Given the description of an element on the screen output the (x, y) to click on. 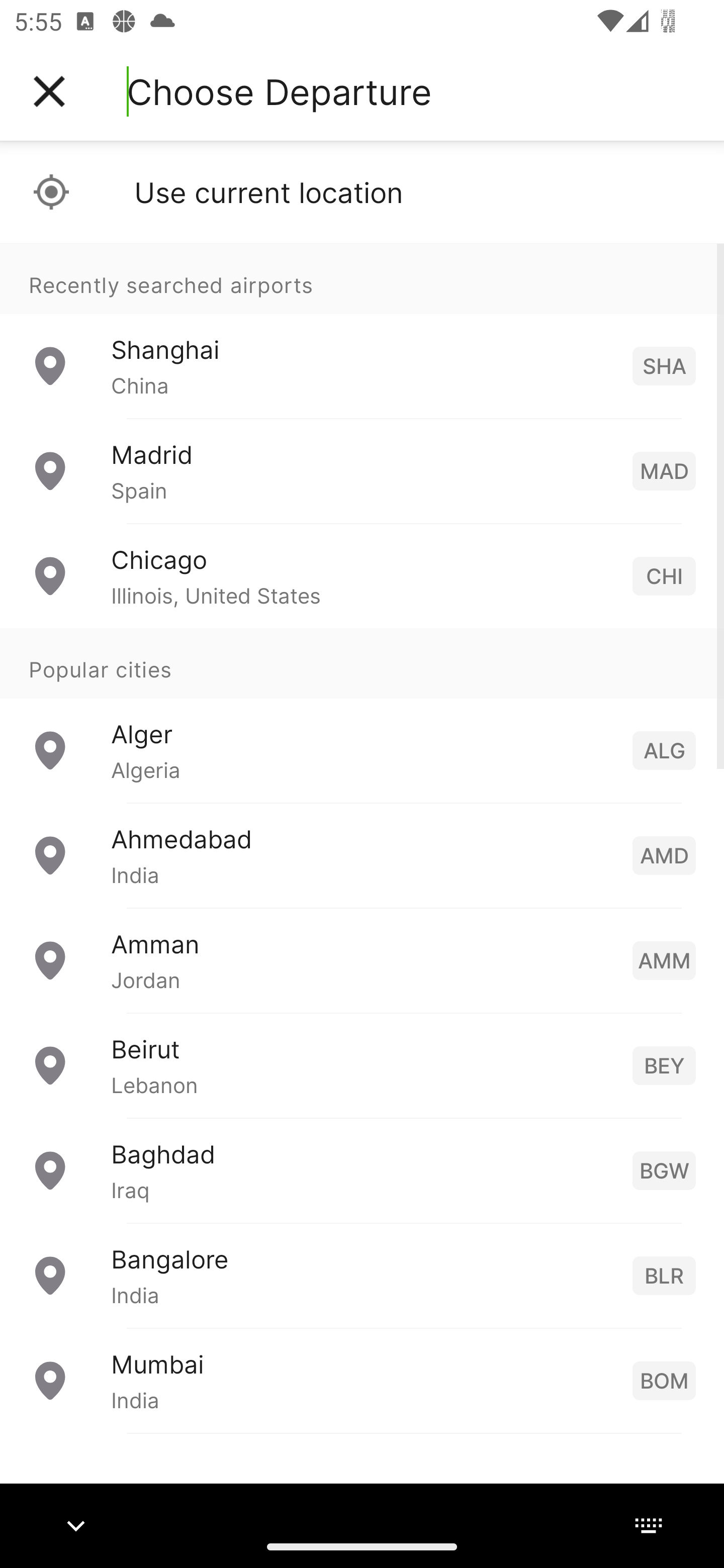
Choose Departure (279, 91)
Use current location (362, 192)
Recently searched airports Shanghai China SHA (362, 330)
Recently searched airports (362, 278)
Madrid Spain MAD (362, 470)
Chicago Illinois, United States CHI (362, 575)
Popular cities Alger Algeria ALG (362, 715)
Popular cities (362, 663)
Ahmedabad India AMD (362, 854)
Amman Jordan AMM (362, 959)
Beirut Lebanon BEY (362, 1064)
Baghdad Iraq BGW (362, 1170)
Bangalore India BLR (362, 1275)
Mumbai India BOM (362, 1380)
